Given the description of an element on the screen output the (x, y) to click on. 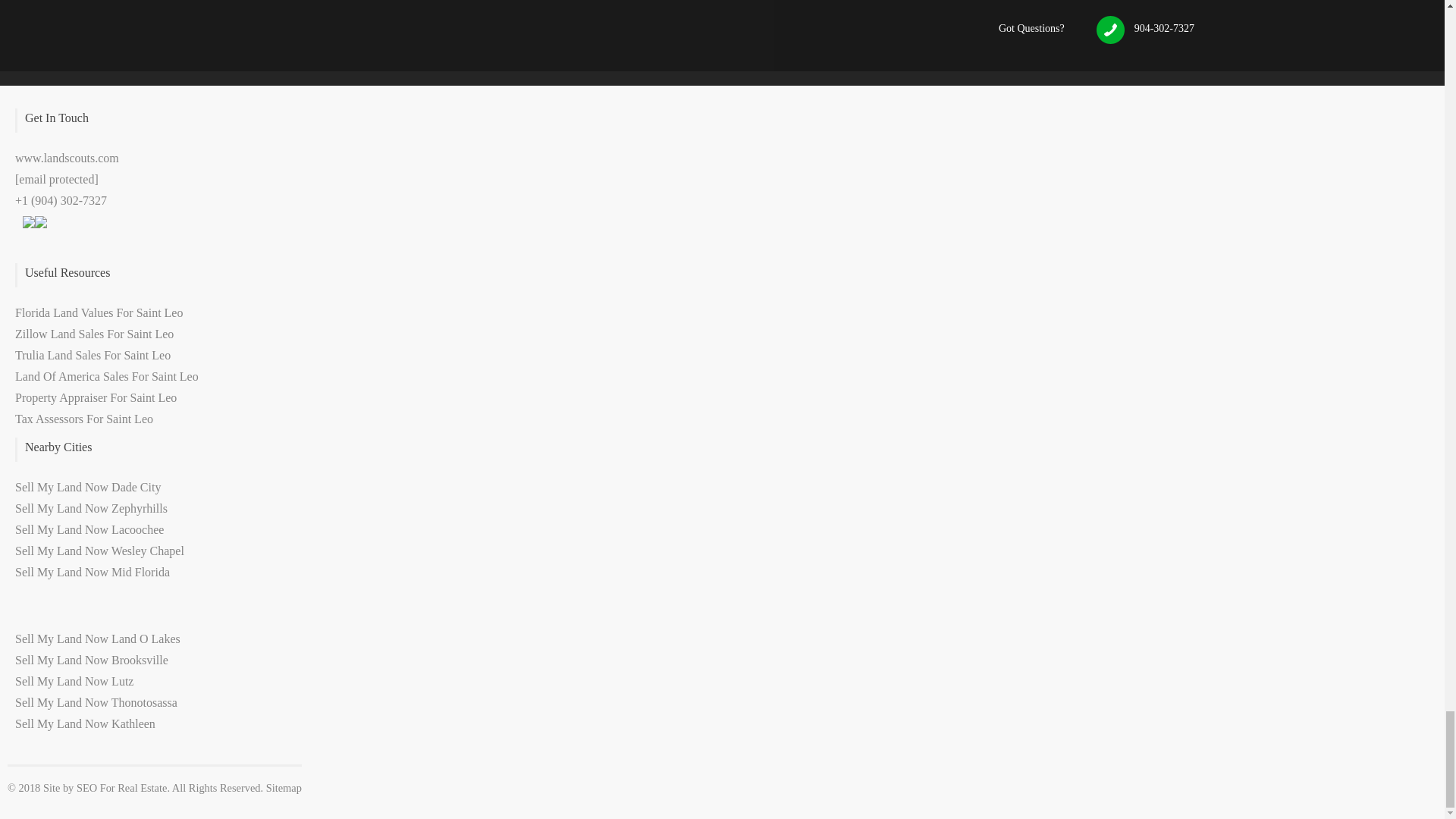
Florida Land Values For Saint Leo (98, 312)
SEO For Real Estate (122, 787)
Sell My Land Now Mid Florida (92, 571)
Tax Assessors For Saint Leo (83, 418)
Trulia Land Sales For Saint Leo (92, 354)
Sell My Land Now Lacoochee (88, 529)
www.landscouts.com (66, 157)
Sell My Land Now Land O Lakes (97, 638)
Sell My Land Now Thonotosassa (95, 702)
Zillow Land Sales For Saint Leo (93, 333)
